Given the description of an element on the screen output the (x, y) to click on. 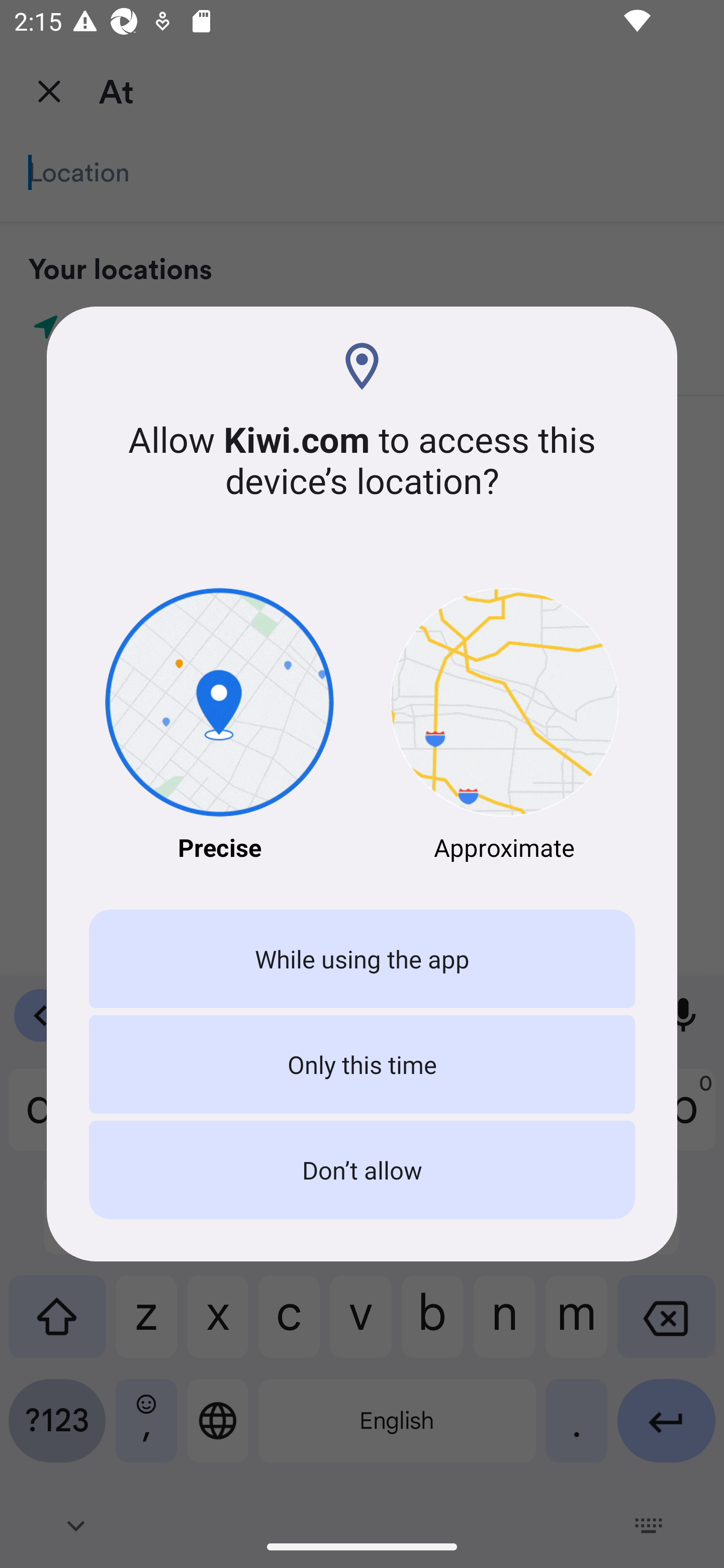
Precise (218, 725)
Approximate (504, 725)
While using the app (361, 958)
Only this time (361, 1063)
Don’t allow (361, 1170)
